Given the description of an element on the screen output the (x, y) to click on. 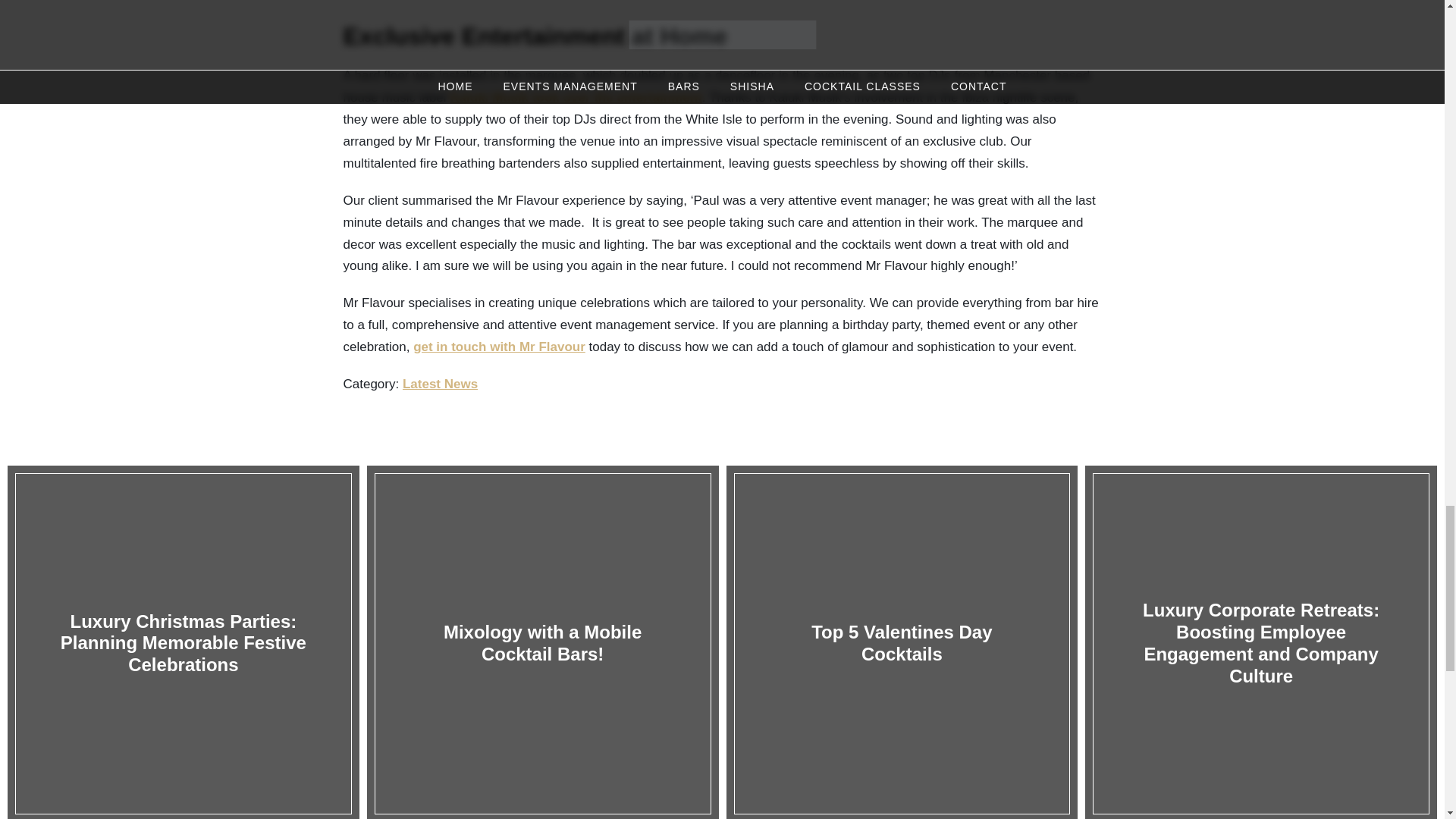
Kaluki Musik took over the entertainment (575, 97)
Top 5 Valentines Day Cocktails (906, 642)
Latest News (440, 383)
get in touch with Mr Flavour (499, 346)
Mixology with a Mobile Cocktail Bars! (546, 642)
